Given the description of an element on the screen output the (x, y) to click on. 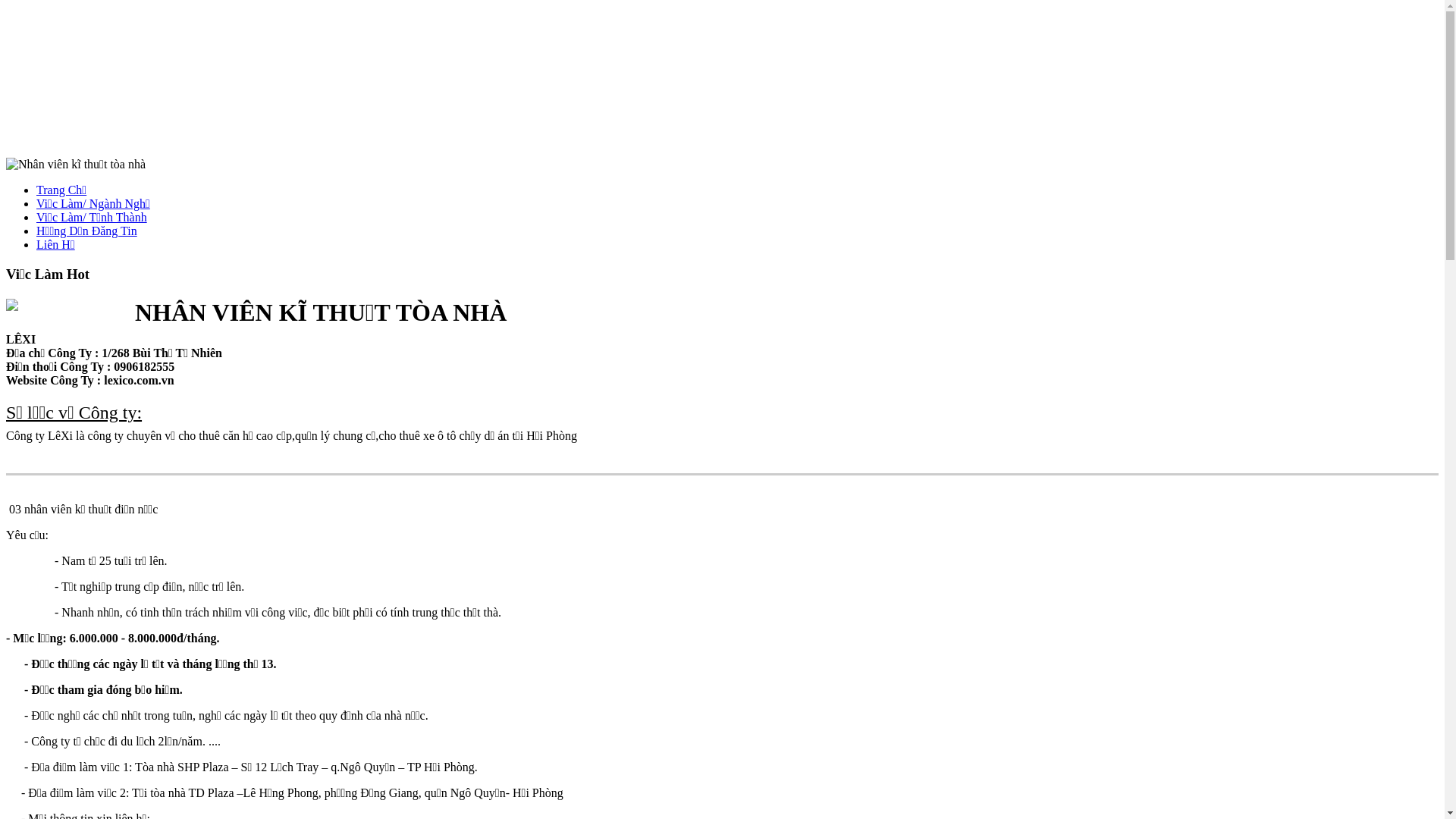
Advertisement Element type: hover (721, 81)
